Given the description of an element on the screen output the (x, y) to click on. 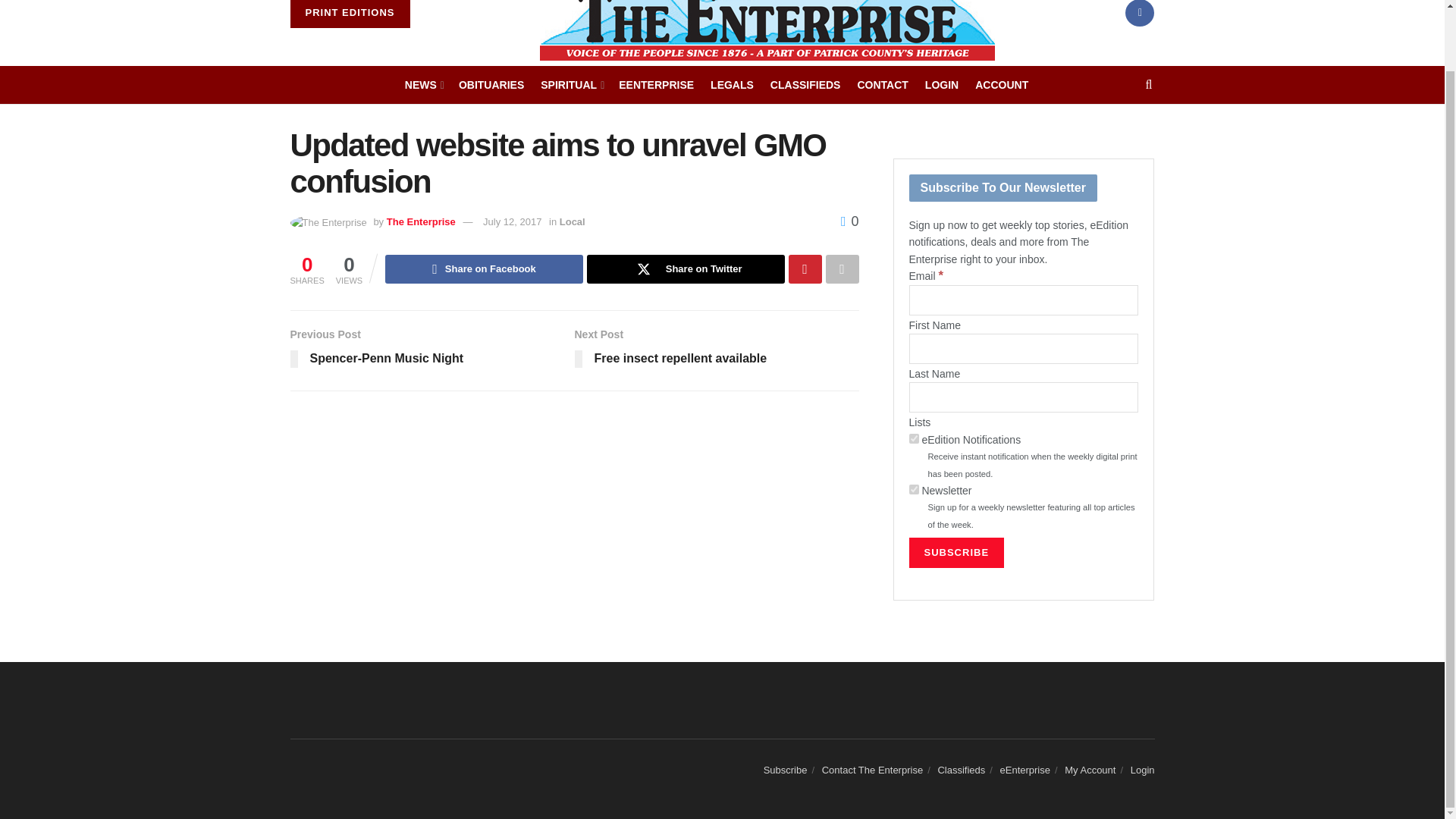
OBITUARIES (491, 84)
2 (913, 438)
LOGIN (941, 84)
CONTACT (882, 84)
Subscribe (956, 552)
EENTERPRISE (656, 84)
ACCOUNT (1001, 84)
SPIRITUAL (571, 84)
